Given the description of an element on the screen output the (x, y) to click on. 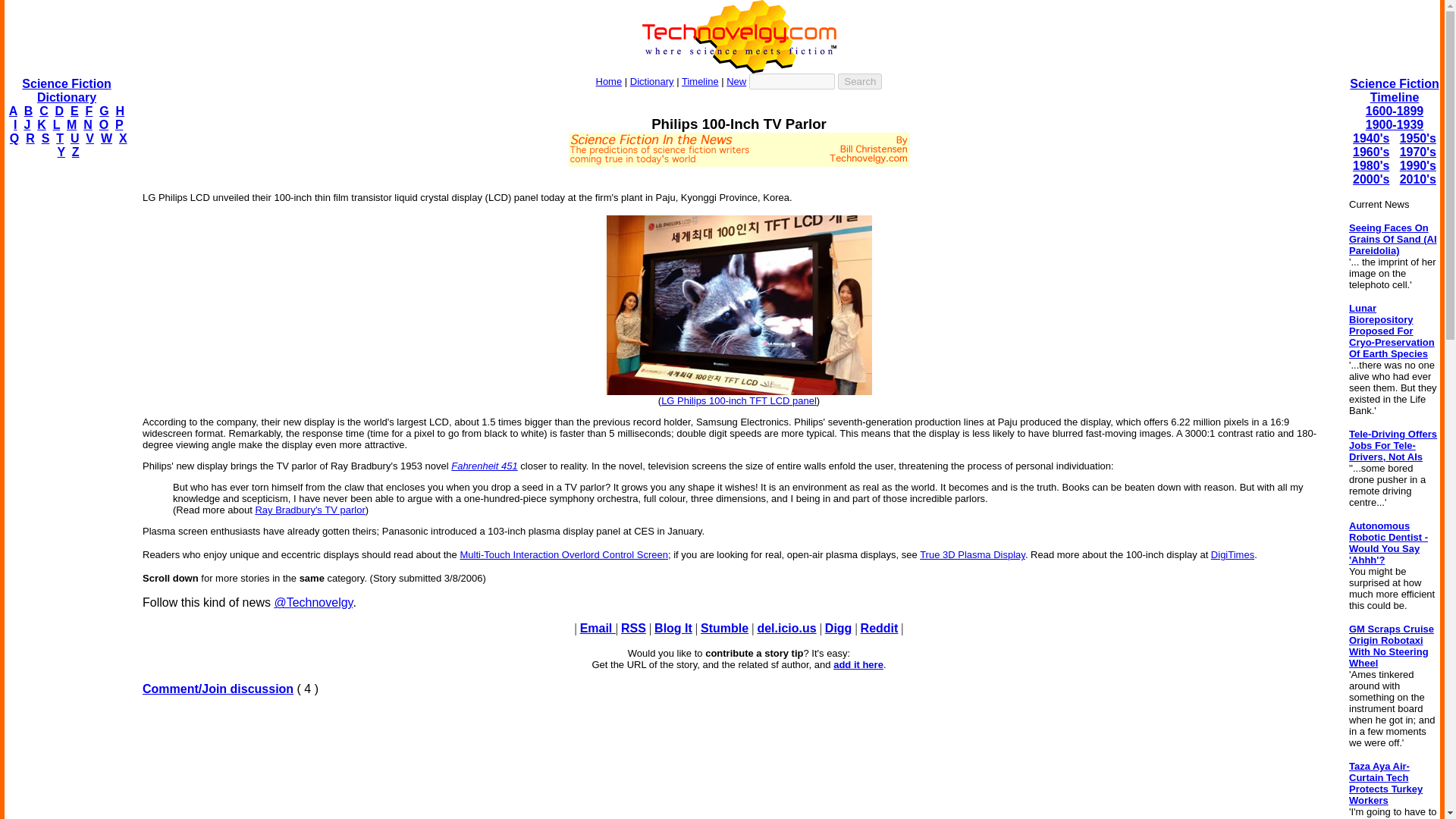
Science Fiction Dictionary (65, 90)
True 3D Plasma Display (972, 554)
DigiTimes (1232, 554)
LG Philips 100-inch TFT LCD panel (738, 400)
Ray Bradbury's TV parlor (309, 509)
Advertisement (738, 763)
Timeline (700, 81)
Dictionary (652, 81)
Advertisement (737, 172)
New (735, 81)
